Given the description of an element on the screen output the (x, y) to click on. 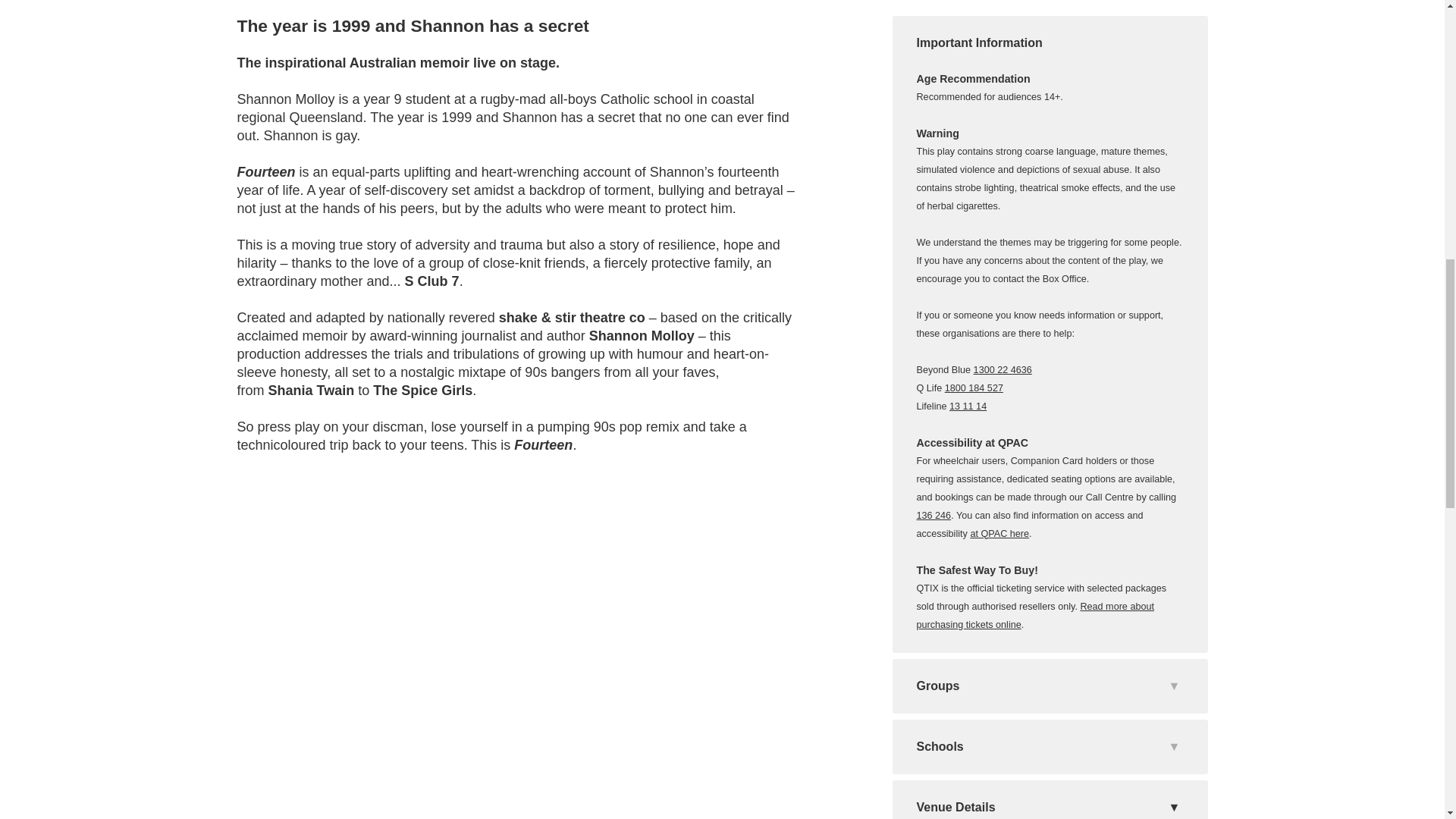
1800 184 527 (973, 388)
Read more about purchasing tickets online (1034, 615)
1300 22 4636 (1003, 369)
The Safest Way To Buy! (1034, 615)
Groups (1048, 686)
Schools (1048, 746)
Lifeline Phone Number (968, 406)
Beyond Blue Phone Number (1003, 369)
13 11 14 (968, 406)
